Given the description of an element on the screen output the (x, y) to click on. 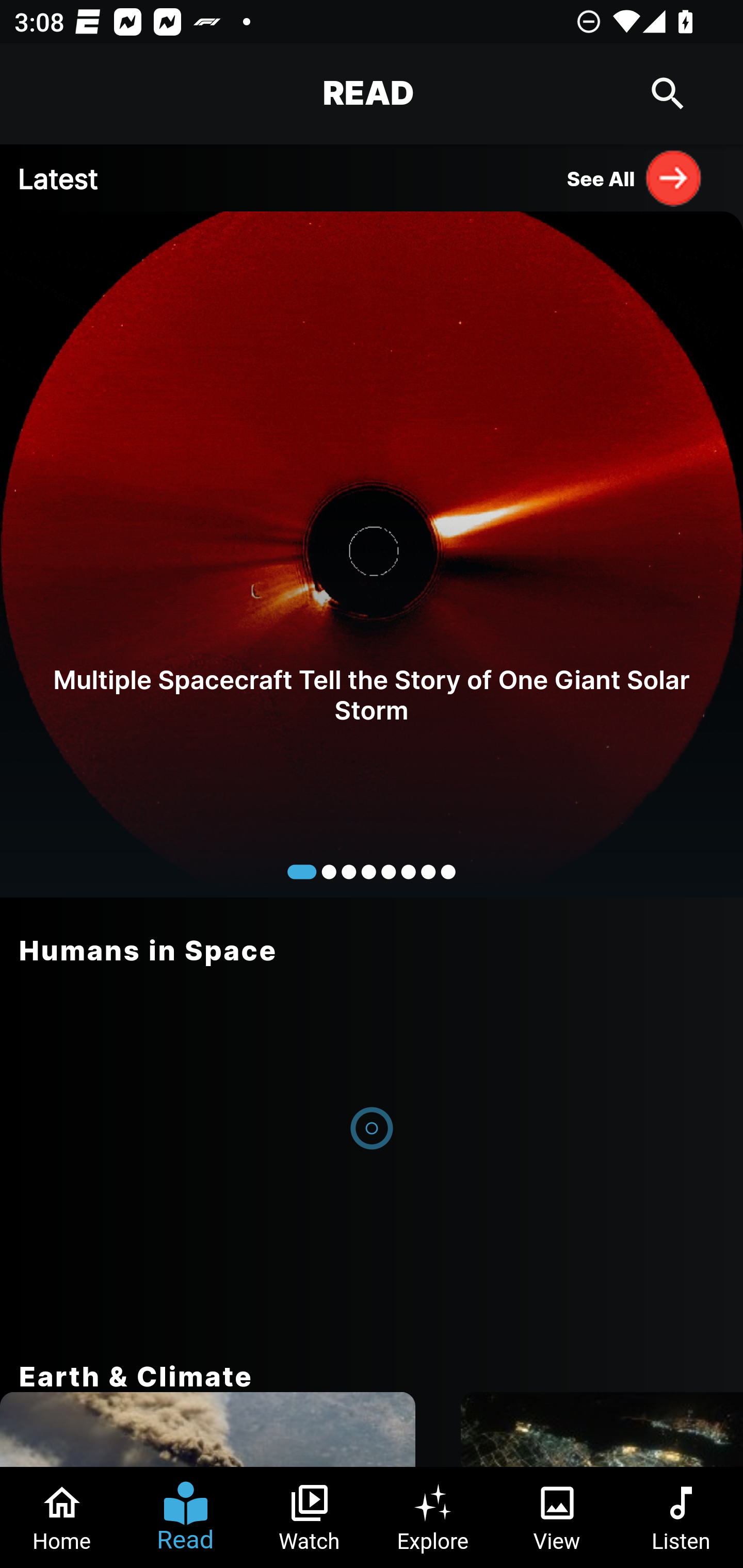
See All (634, 177)
Home
Tab 1 of 6 (62, 1517)
Read
Tab 2 of 6 (185, 1517)
Watch
Tab 3 of 6 (309, 1517)
Explore
Tab 4 of 6 (433, 1517)
View
Tab 5 of 6 (556, 1517)
Listen
Tab 6 of 6 (680, 1517)
